Given the description of an element on the screen output the (x, y) to click on. 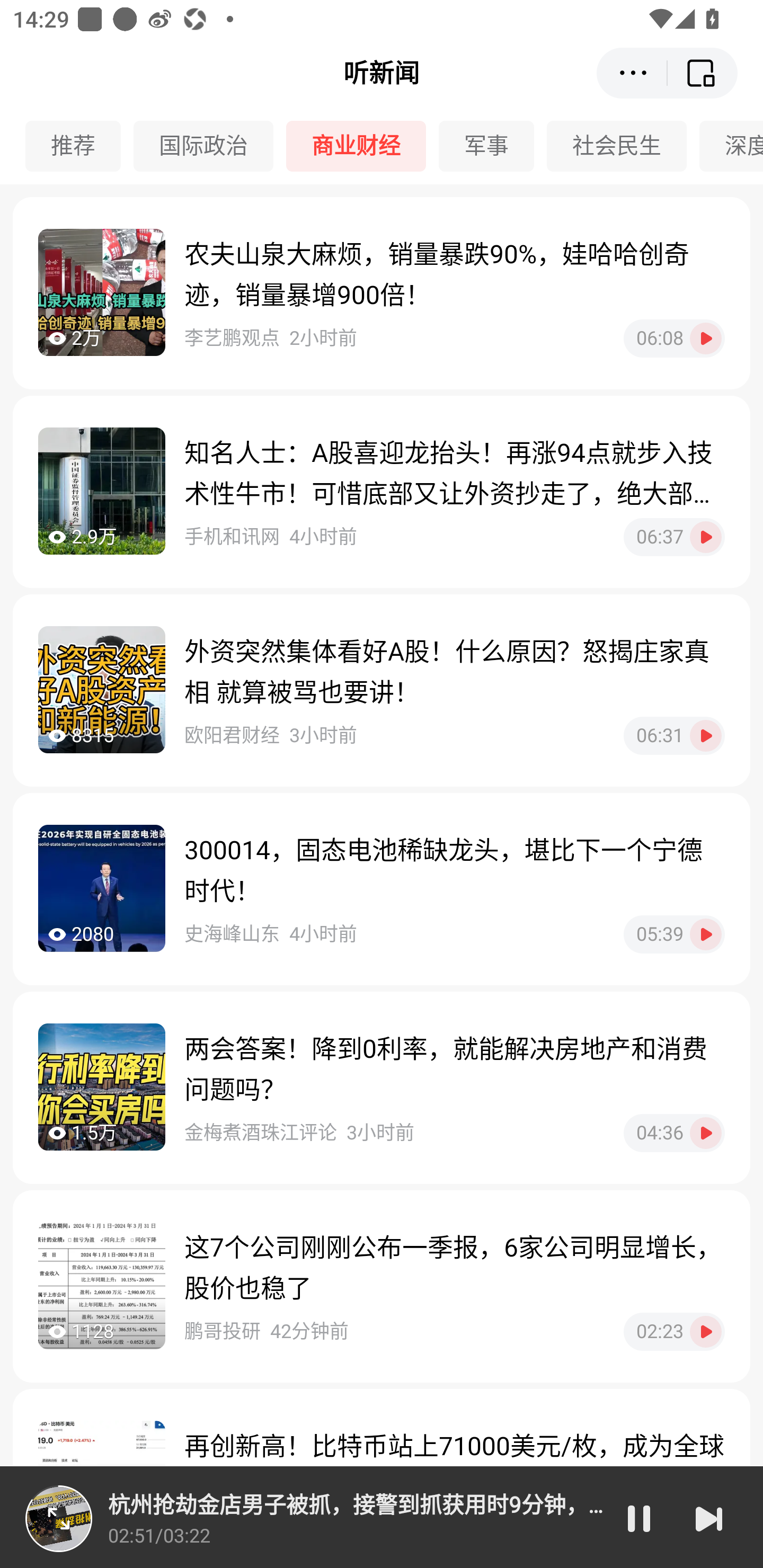
更多 (631, 72)
返回 (702, 72)
推荐 (79, 146)
国际政治 (209, 146)
商业财经 (362, 146)
军事 (492, 146)
社会民生 (623, 146)
06:08 (673, 338)
06:37 (673, 536)
06:31 (673, 735)
2080 300014，固态电池稀缺龙头，堪比下一个宁德时代！ 史海峰山东4小时前 05:39 (381, 888)
05:39 (673, 934)
1.5万 两会答案！降到0利率，就能解决房地产和消费问题吗？ 金梅煮酒珠江评论3小时前 04:36 (381, 1086)
04:36 (673, 1132)
1128 这7个公司刚刚公布一季报，6家公司明显增长，股价也稳了 鹏哥投研42分钟前 02:23 (381, 1286)
02:23 (673, 1331)
暂停 (638, 1518)
下一篇 (708, 1518)
